Given the description of an element on the screen output the (x, y) to click on. 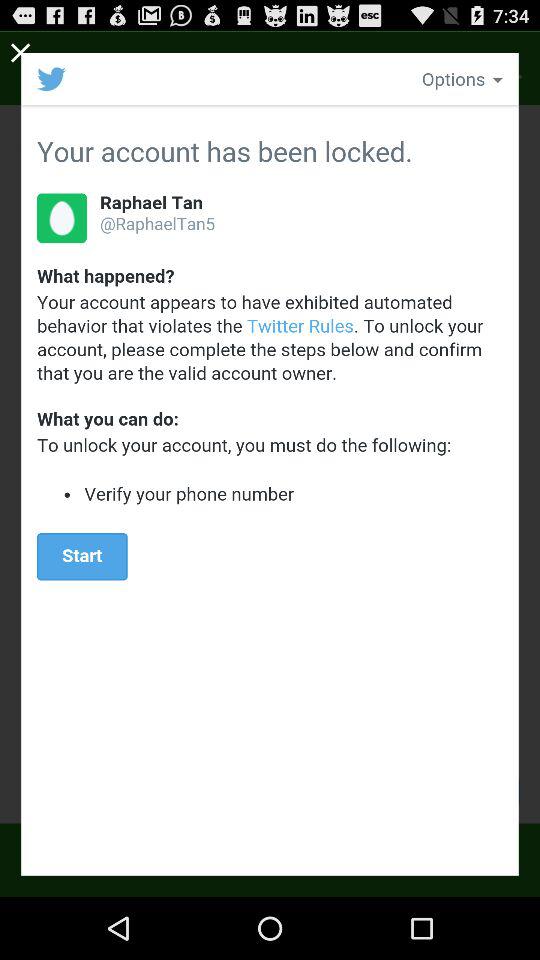
close (21, 52)
